Given the description of an element on the screen output the (x, y) to click on. 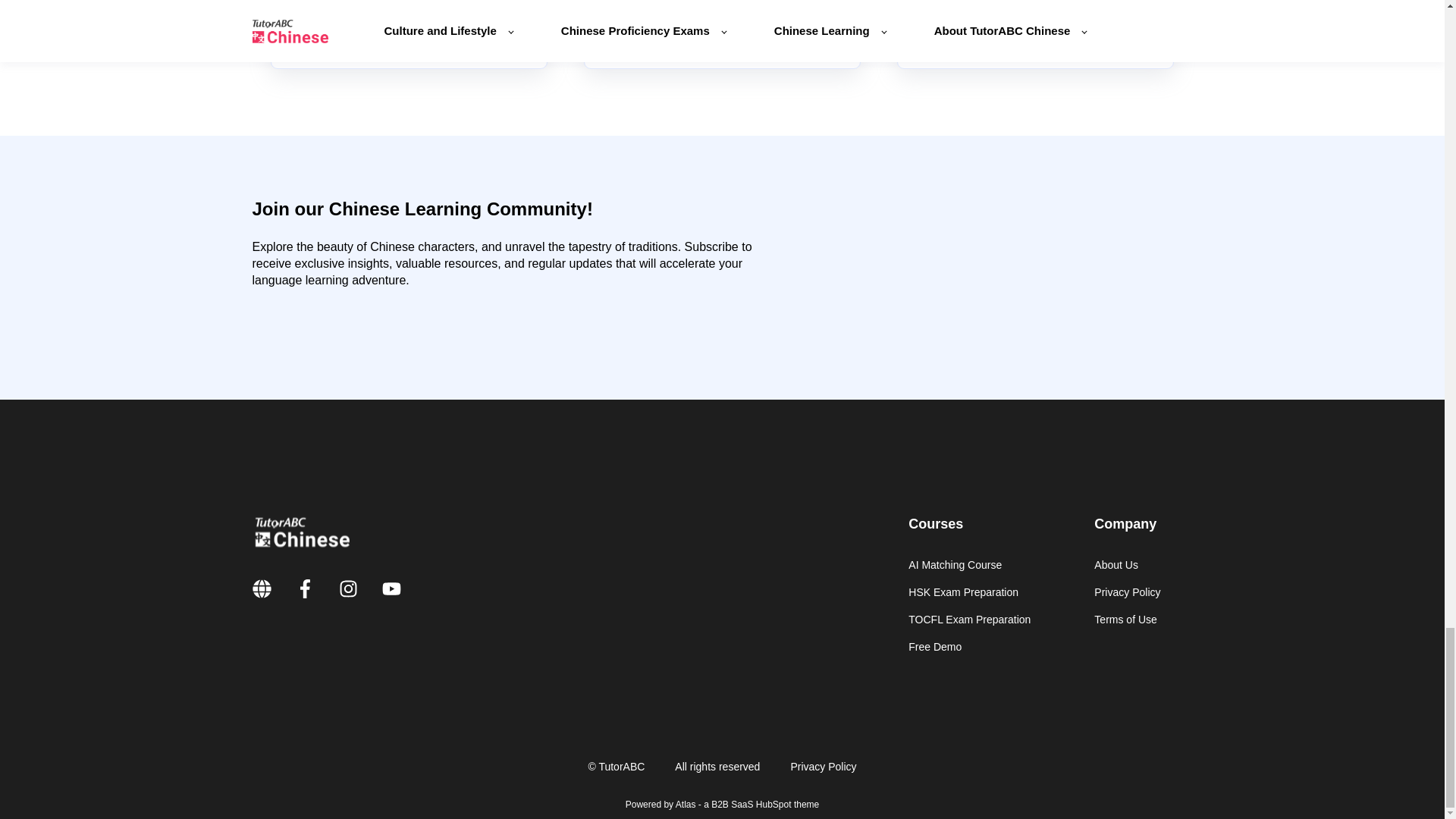
Free Demo (969, 646)
Privacy Policy (1127, 592)
About Us (1127, 564)
HSK Exam Preparation (969, 592)
AI Matching Course (969, 564)
TOCFL Exam Preparation (969, 619)
